Given the description of an element on the screen output the (x, y) to click on. 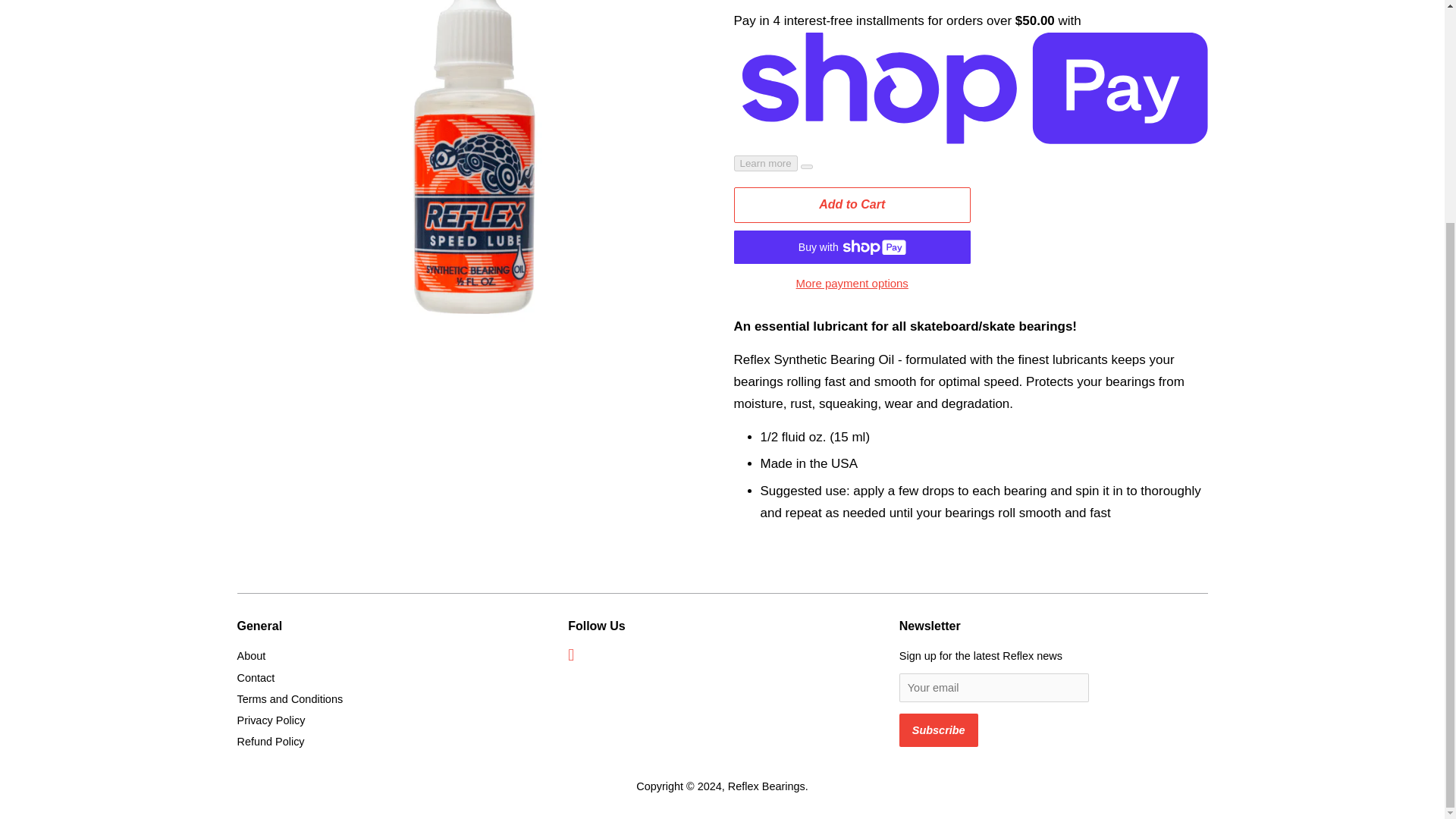
More payment options (852, 282)
Subscribe (938, 729)
Add to Cart (852, 204)
About (249, 655)
